Given the description of an element on the screen output the (x, y) to click on. 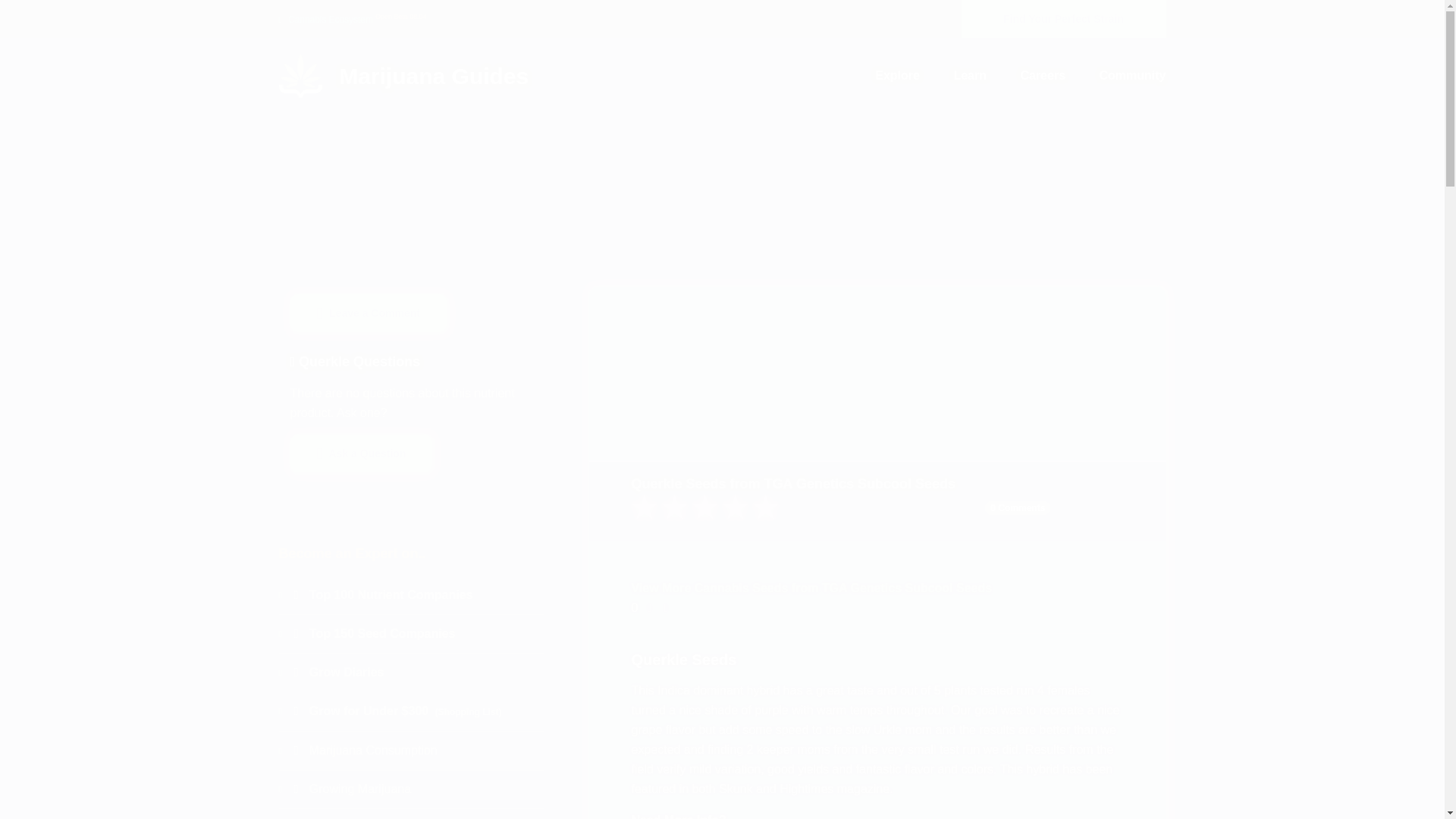
Marijuana Guides (404, 86)
Cannabis Ecosystem Open Beta 08.04 (352, 19)
Marijuana Guides Home (404, 74)
Strain Finder (1063, 18)
Find Your Perfect Strain (1063, 18)
